Given the description of an element on the screen output the (x, y) to click on. 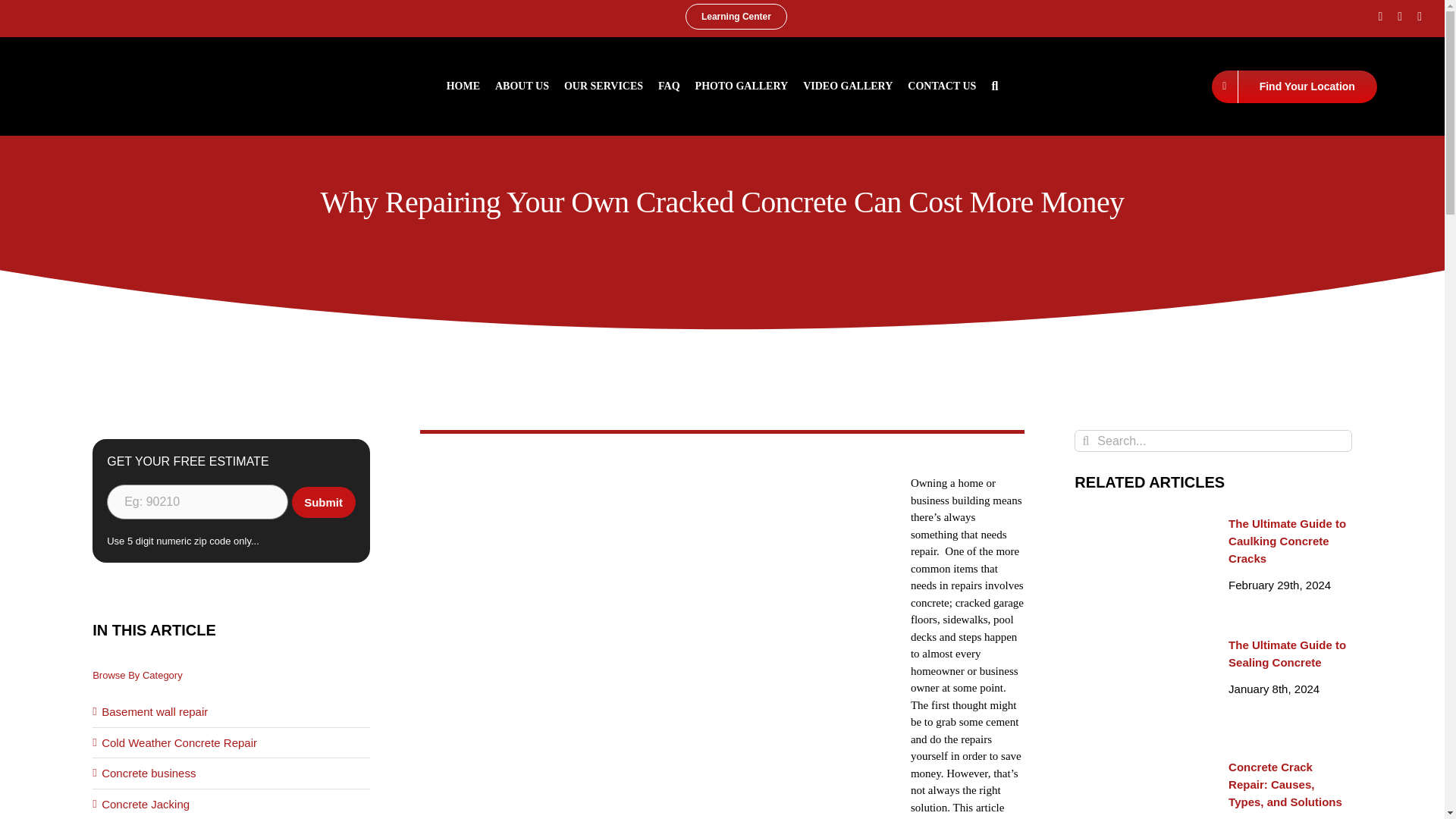
Learning Center (736, 16)
ABOUT US (521, 86)
Input 5 Digits In Zip Code Format (197, 501)
Submit (323, 501)
OUR SERVICES (603, 86)
